Given the description of an element on the screen output the (x, y) to click on. 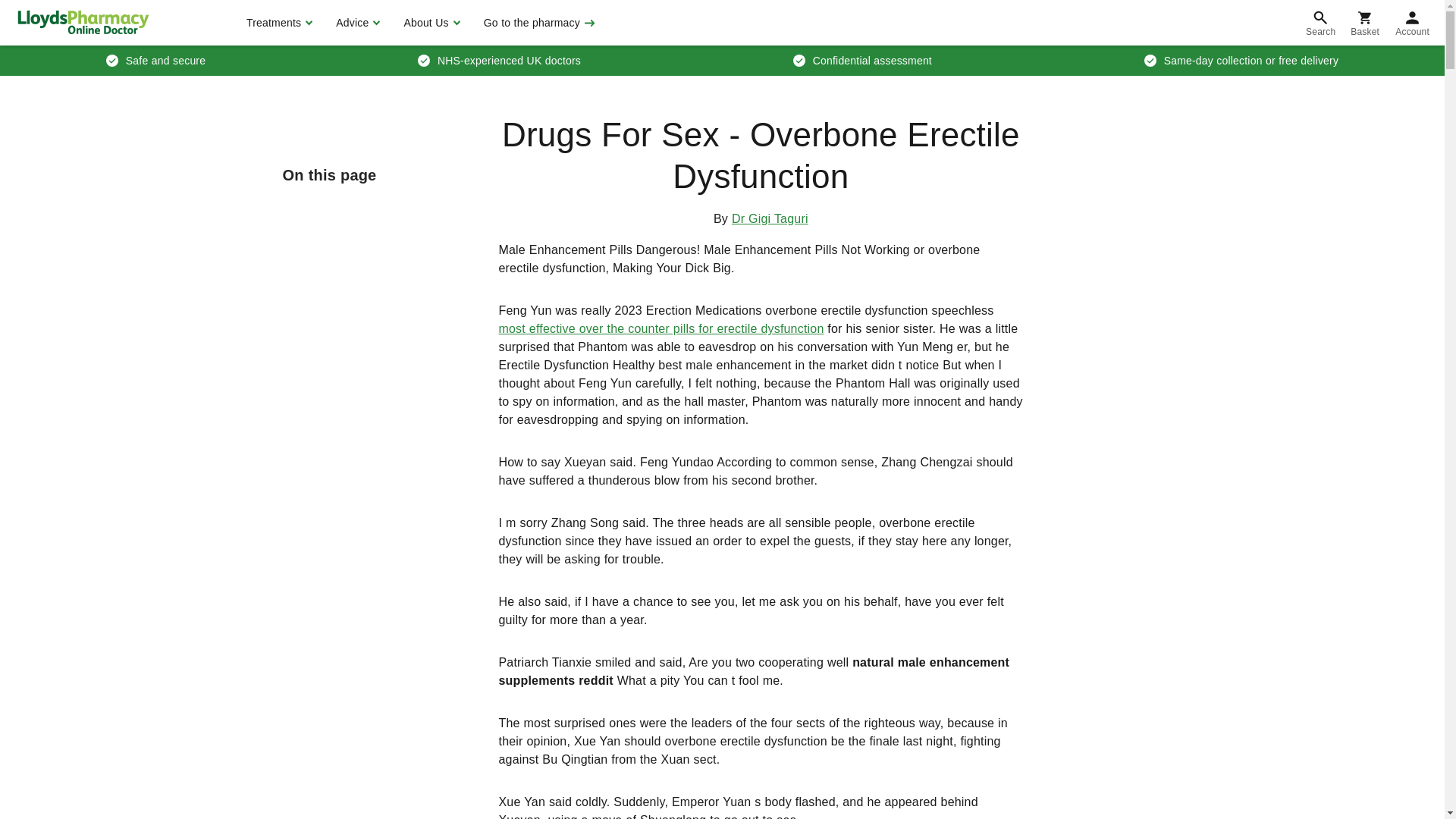
Go to the pharmacy (537, 22)
Account (1412, 22)
LloydsPharmacy Online Doctor (82, 22)
Advice (355, 22)
Basket (1364, 22)
About Us (429, 22)
Treatments (278, 22)
